Given the description of an element on the screen output the (x, y) to click on. 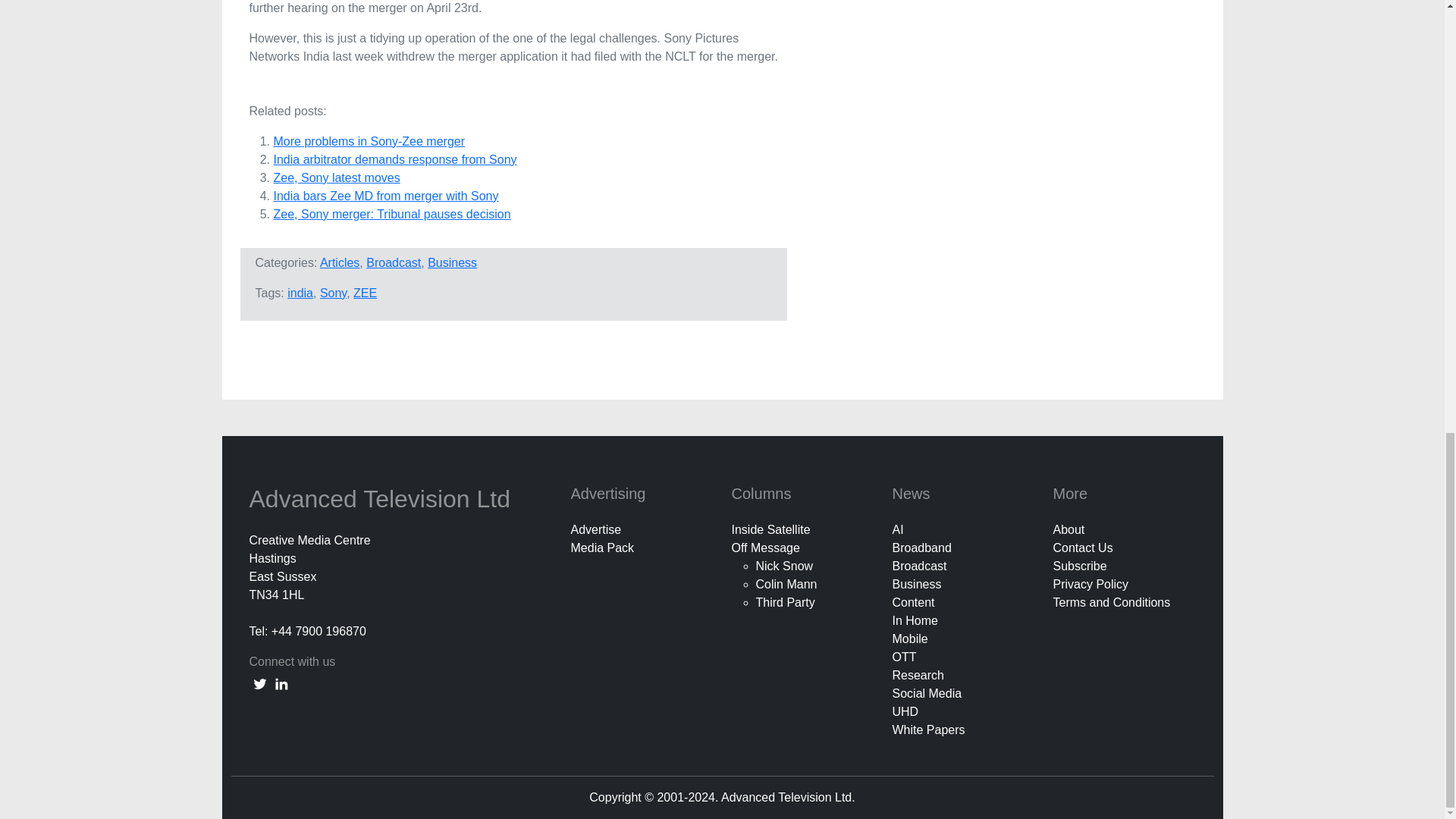
Advanced Television Ltd  (382, 498)
Zee, Sony merger: Tribunal pauses decision (392, 214)
Zee, Sony latest moves (335, 177)
Business (452, 262)
Articles (339, 262)
Zee, Sony merger: Tribunal pauses decision (392, 214)
India bars Zee MD from merger with Sony (385, 195)
India arbitrator demands response from Sony (394, 159)
More problems in Sony-Zee merger (368, 141)
More problems in Sony-Zee merger (368, 141)
